Given the description of an element on the screen output the (x, y) to click on. 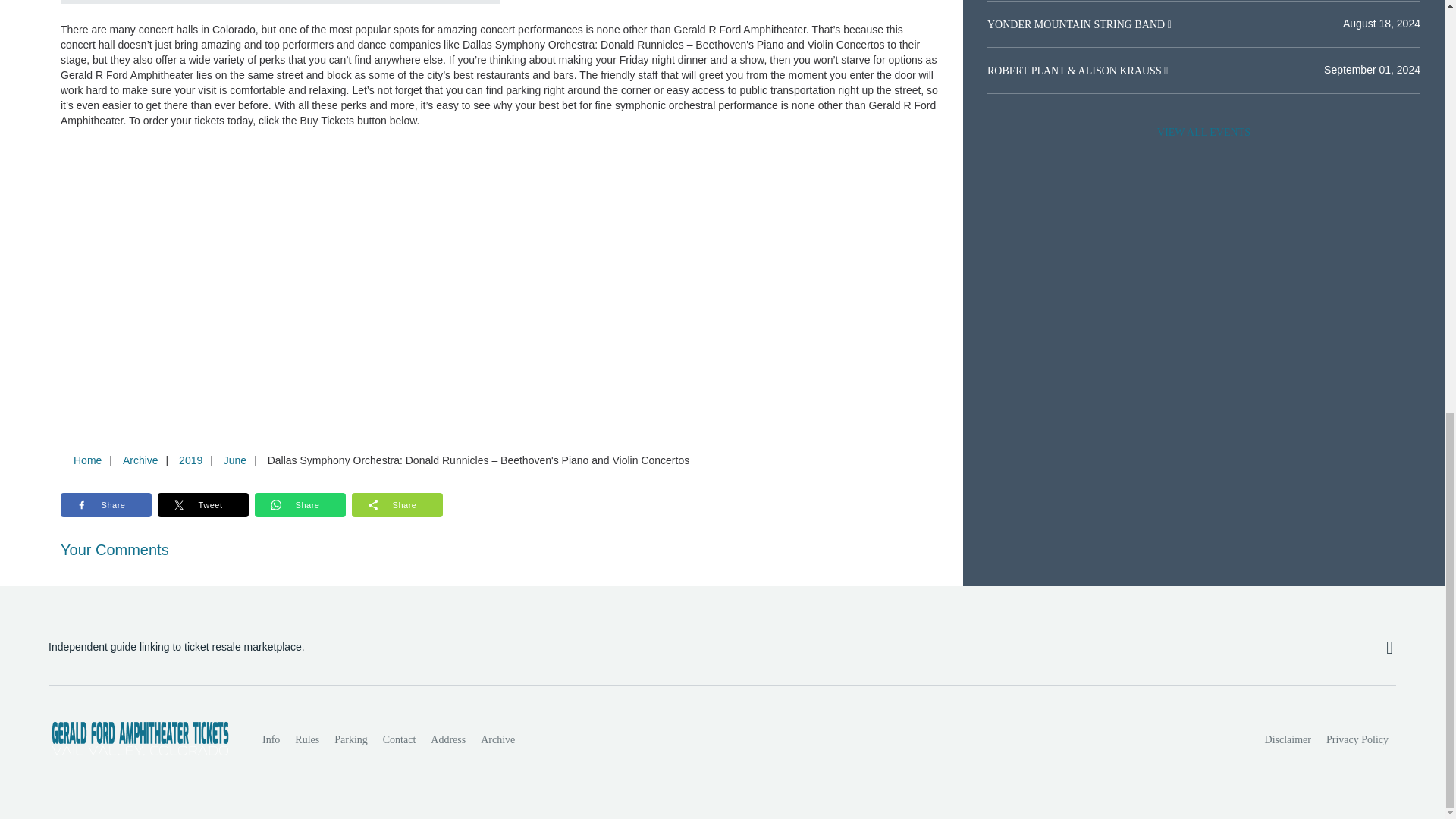
Parking (350, 739)
Archive (140, 460)
Disclaimer (1288, 739)
Privacy Policy (1357, 739)
Address (448, 739)
Home (87, 460)
Rules (306, 739)
Archive (497, 739)
2019 (190, 460)
Info (270, 739)
